Given the description of an element on the screen output the (x, y) to click on. 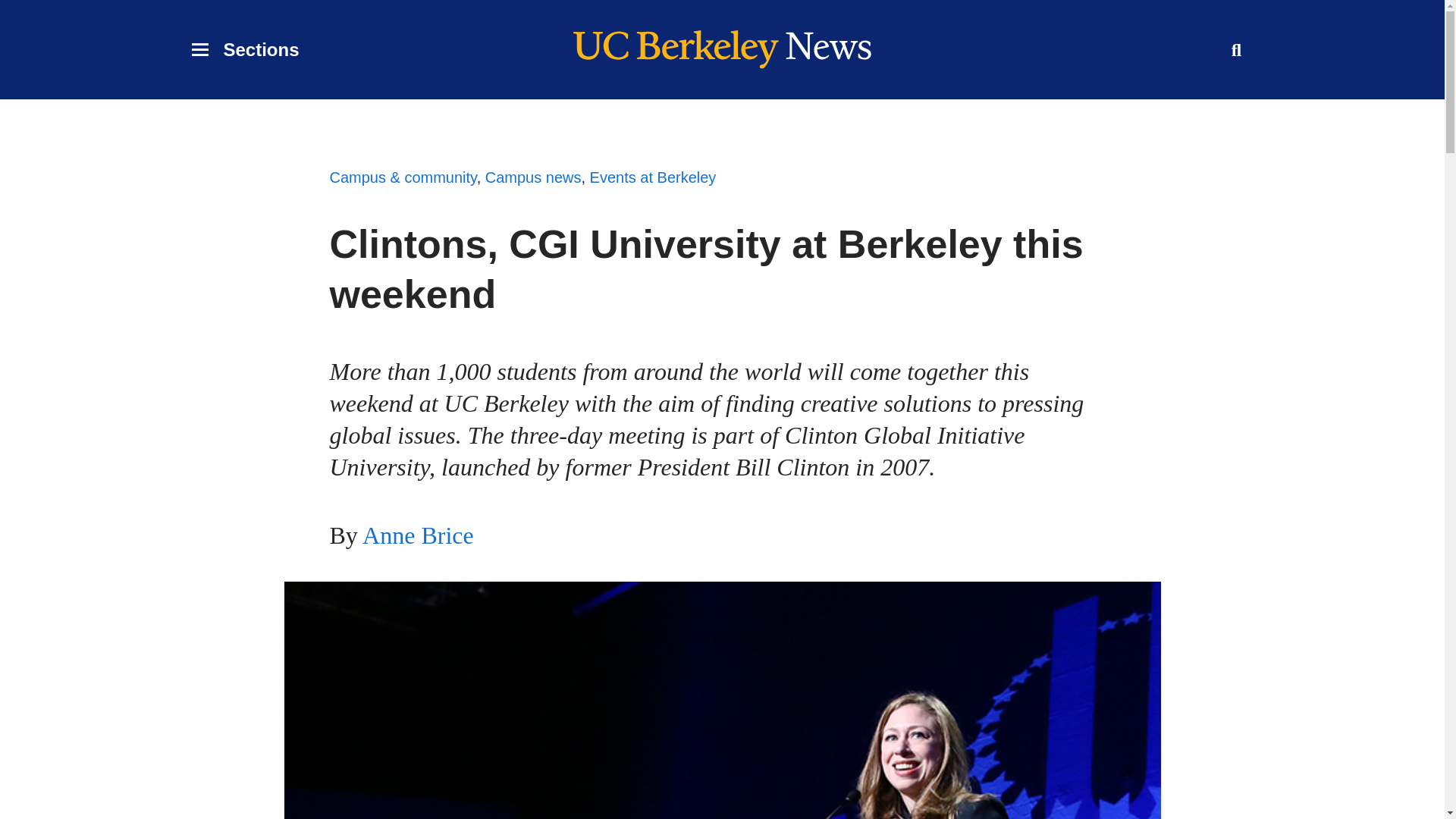
Campus news (244, 49)
Events at Berkeley (532, 176)
Expand Search Form (652, 176)
Anne Brice (1236, 49)
